Given the description of an element on the screen output the (x, y) to click on. 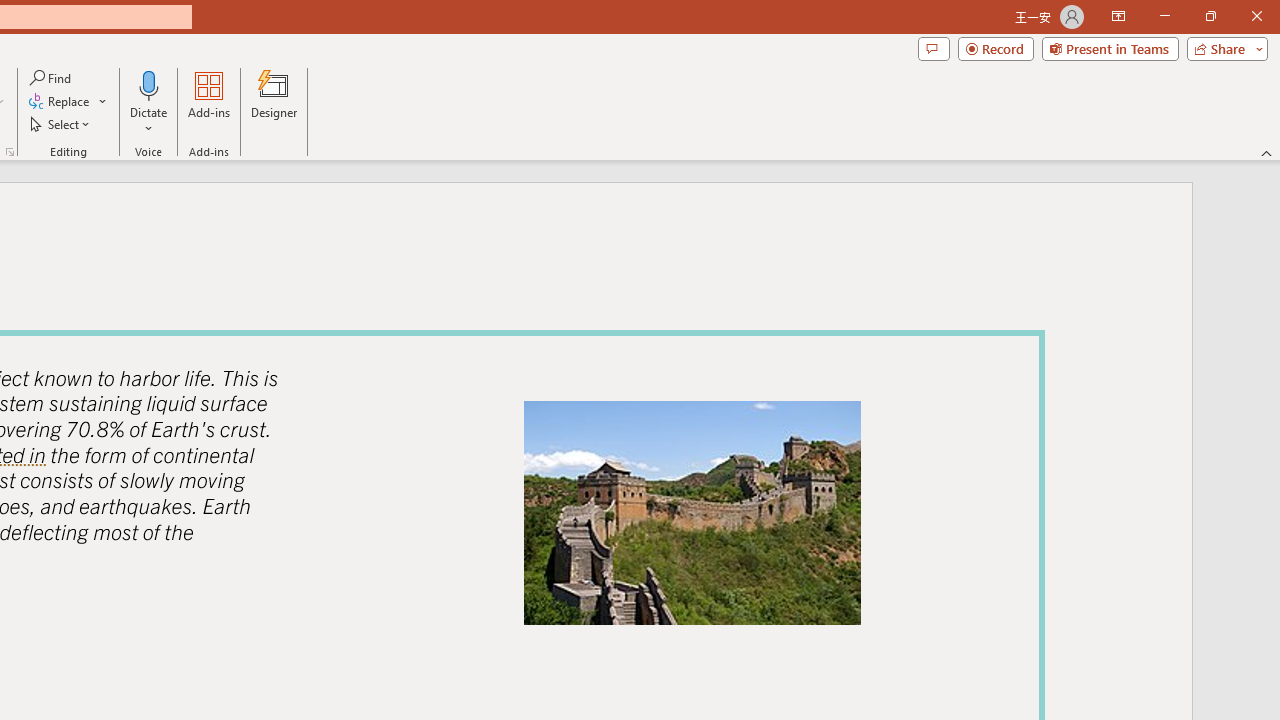
Format Object... (9, 151)
Find... (51, 78)
